Given the description of an element on the screen output the (x, y) to click on. 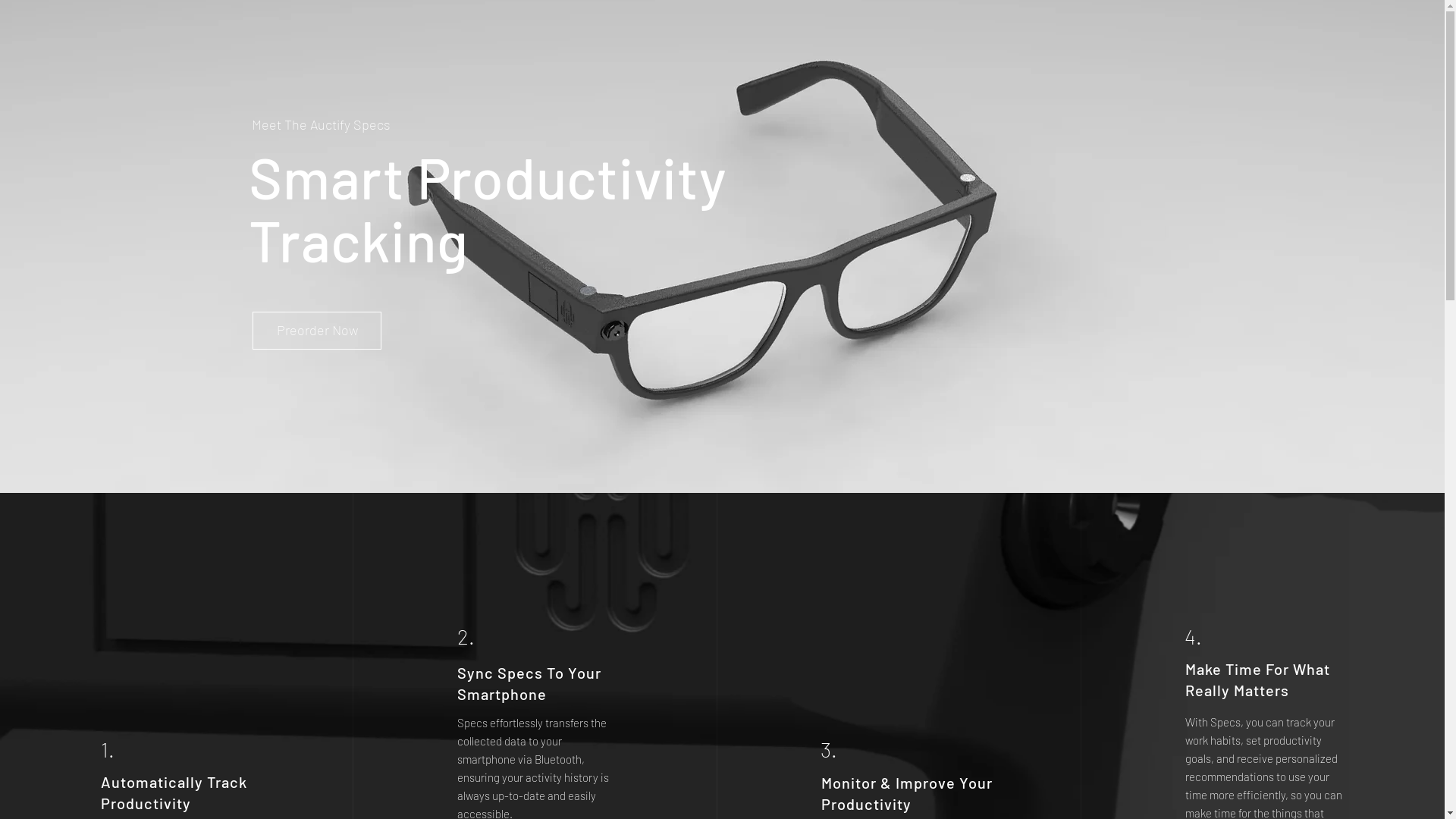
Preorder Now Element type: text (316, 330)
